Given the description of an element on the screen output the (x, y) to click on. 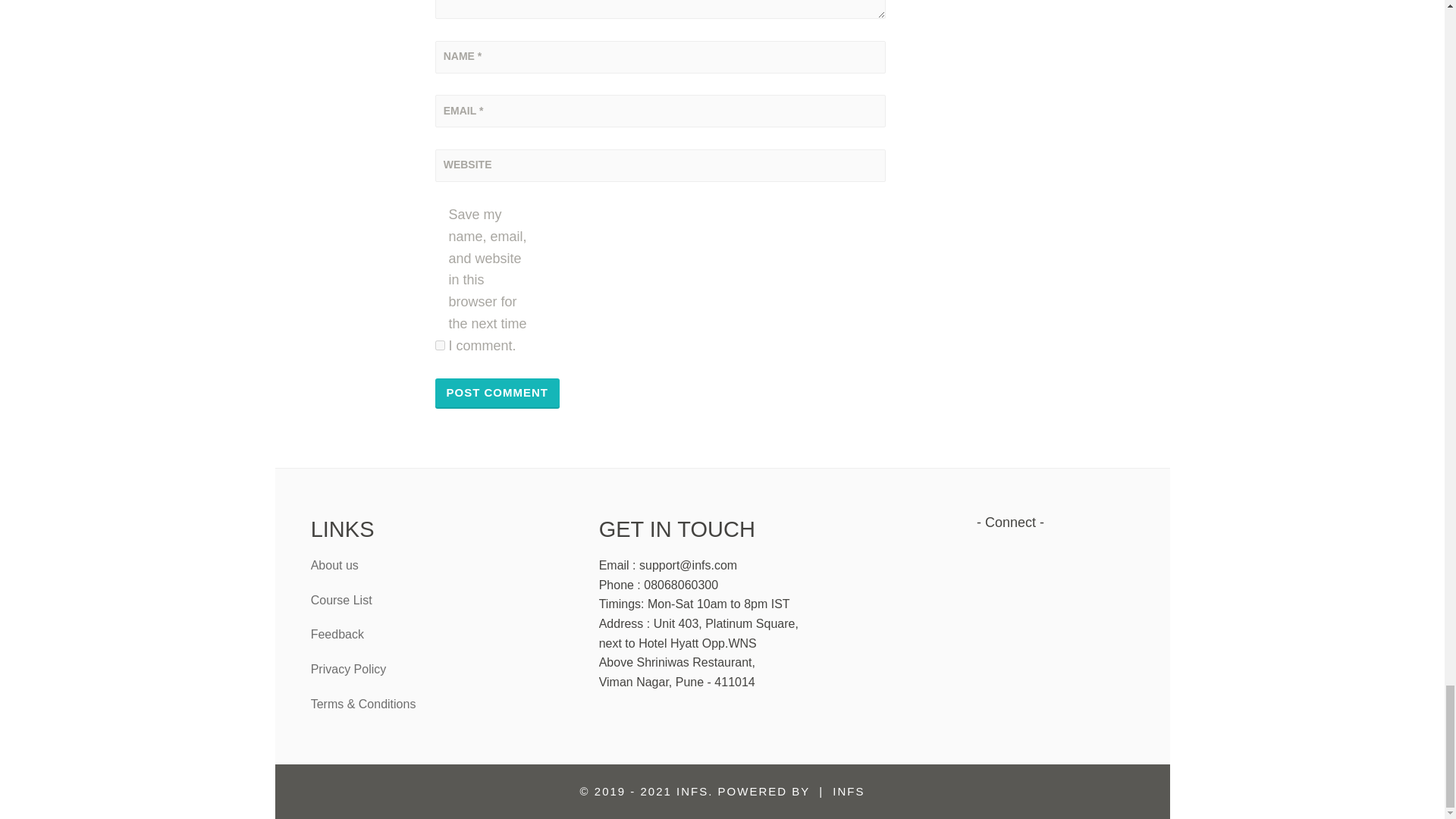
Post Comment (497, 393)
yes (440, 345)
Post Comment (497, 393)
